Given the description of an element on the screen output the (x, y) to click on. 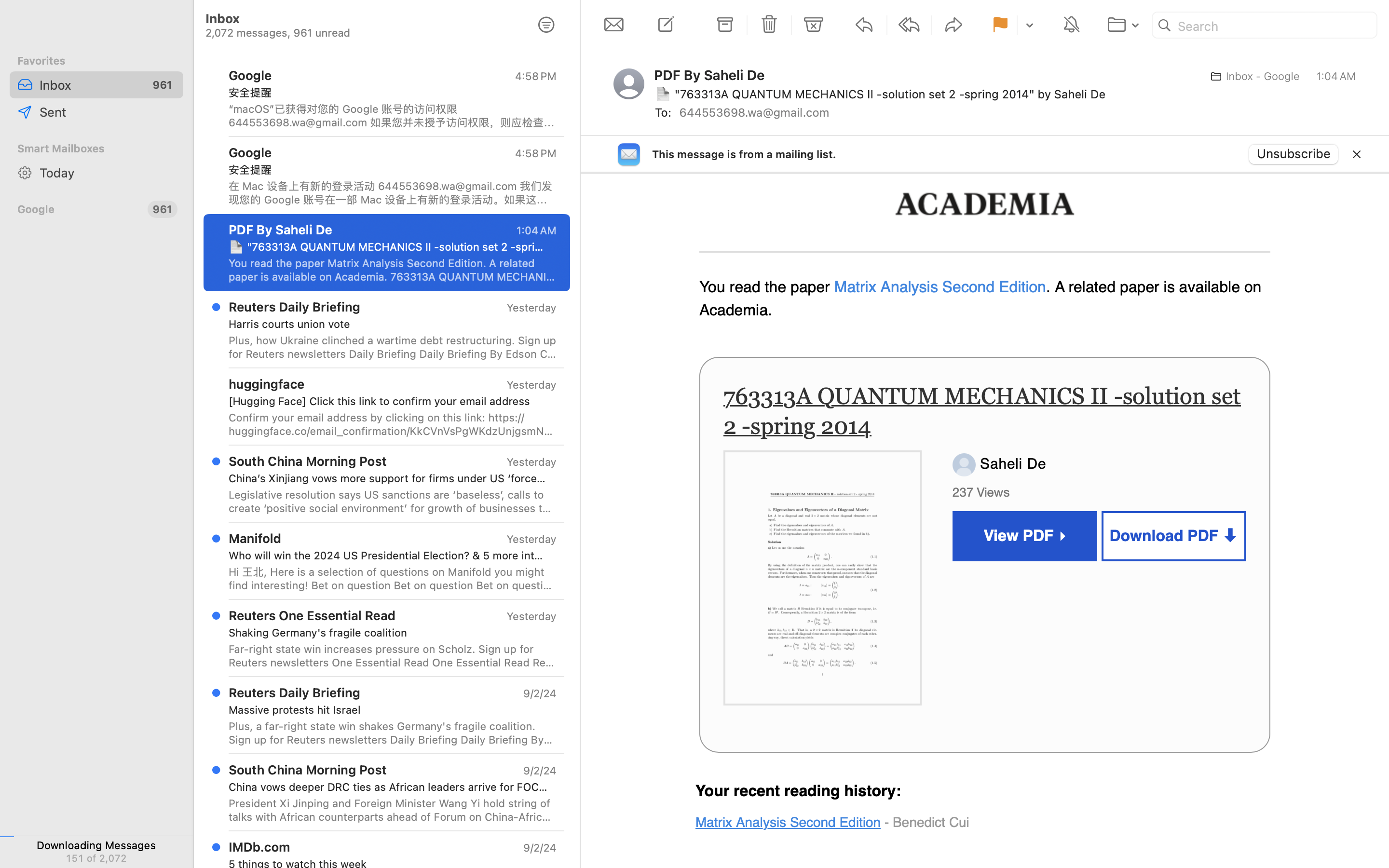
0 Element type: AXCheckBox (545, 25)
Downloading Messages Element type: AXStaticText (96, 844)
Reuters Daily Briefing Element type: AXStaticText (294, 692)
View PDF ▸ Element type: AXStaticText (1024, 535)
Download PDF ⬇ Element type: AXStaticText (1173, 535)
